Given the description of an element on the screen output the (x, y) to click on. 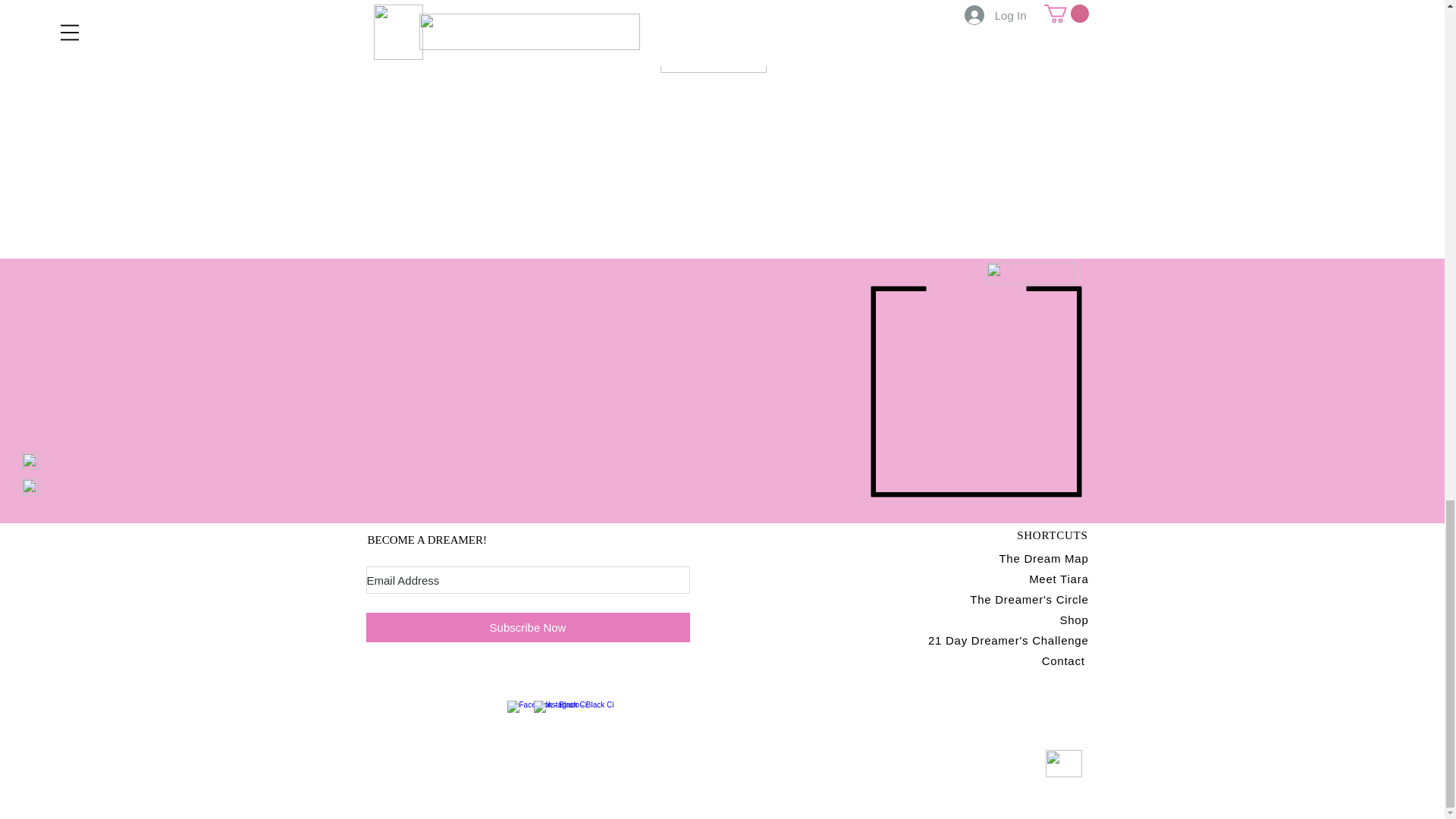
The Dream Map (1042, 558)
21 Day Dreamer's Challenge (1008, 640)
Contact  (1065, 660)
Meet Tiara (1058, 578)
Subscribe Now (526, 627)
The Dreamer's Circle (1028, 599)
Shop (1073, 619)
